Given the description of an element on the screen output the (x, y) to click on. 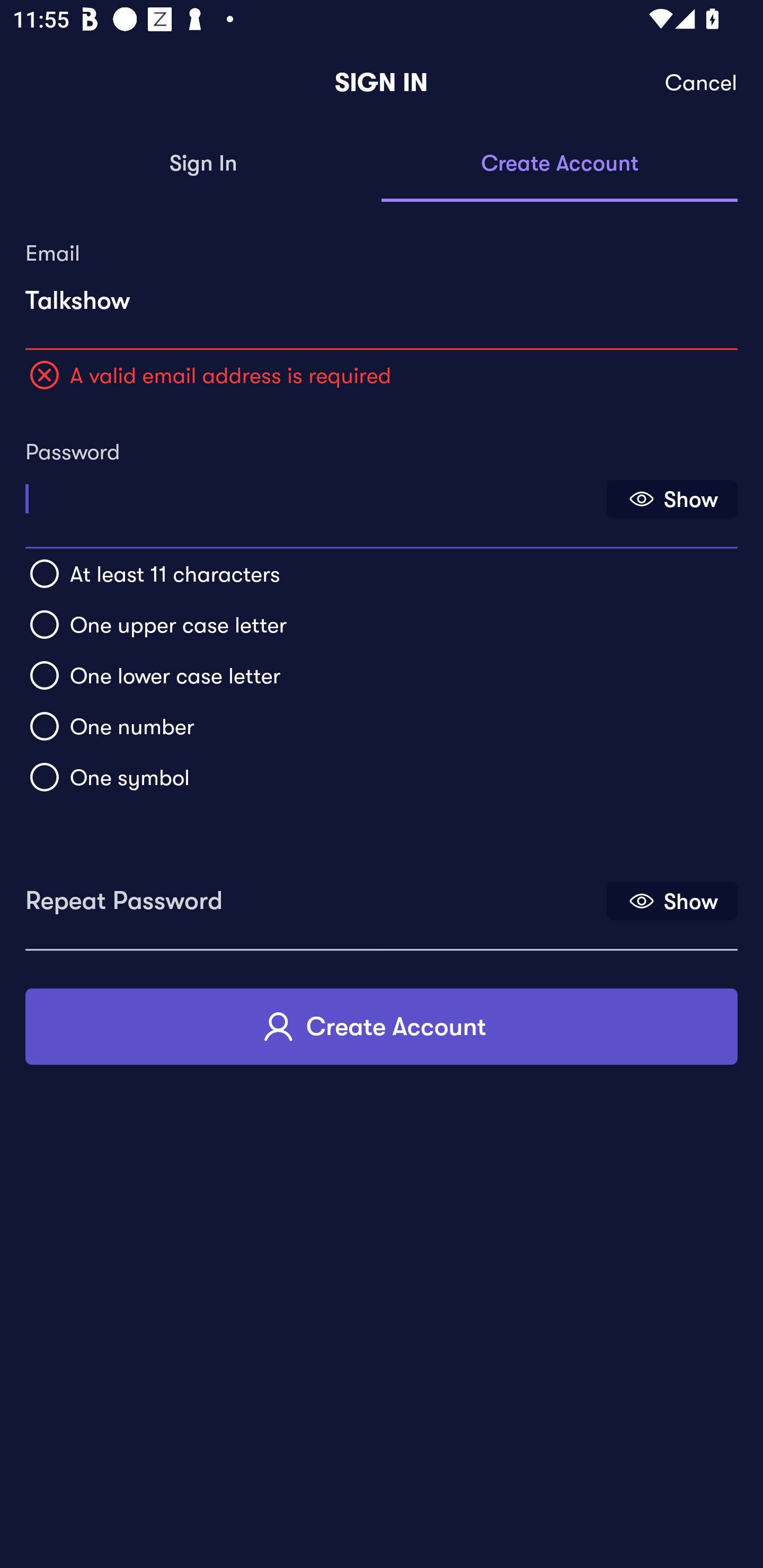
Cancel (701, 82)
Sign In (203, 164)
Create Account (559, 164)
Password (314, 493)
Show Password Show (671, 498)
Repeat Password (314, 894)
Show Repeat Password Show (671, 900)
Create Account (381, 1025)
